Given the description of an element on the screen output the (x, y) to click on. 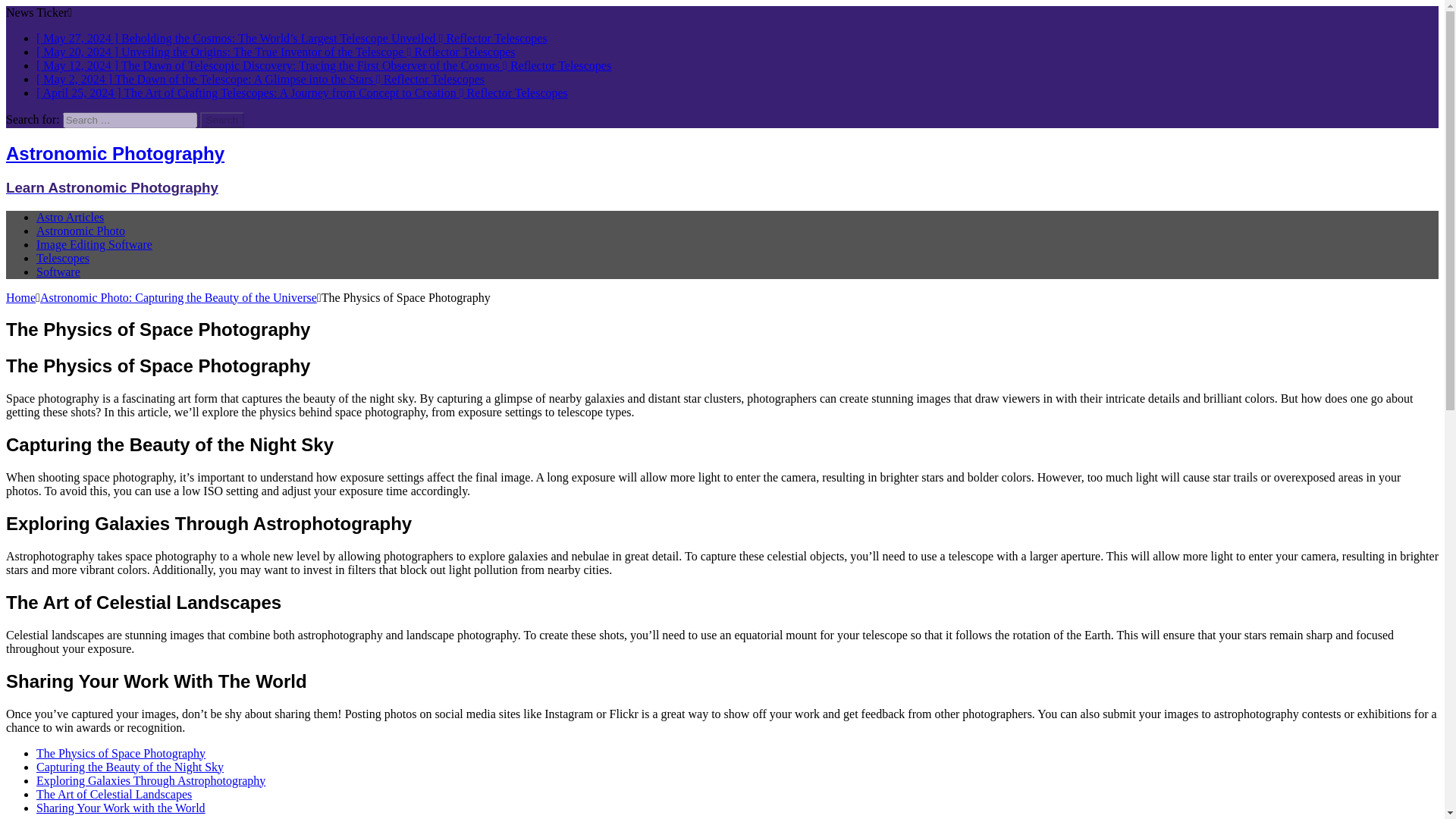
Search (222, 119)
The Physics of Space Photography (120, 752)
Exploring Galaxies Through Astrophotography (150, 779)
Capturing the Beauty of the Night Sky (130, 766)
Telescopes (62, 257)
Sharing Your Work with the World (120, 807)
Home (19, 297)
The Art of Celestial Landscapes (114, 793)
Astro Articles (69, 216)
Search (222, 119)
The Dawn of the Telescope: A Glimpse into the Stars (260, 78)
Software (58, 271)
Search (222, 119)
